Given the description of an element on the screen output the (x, y) to click on. 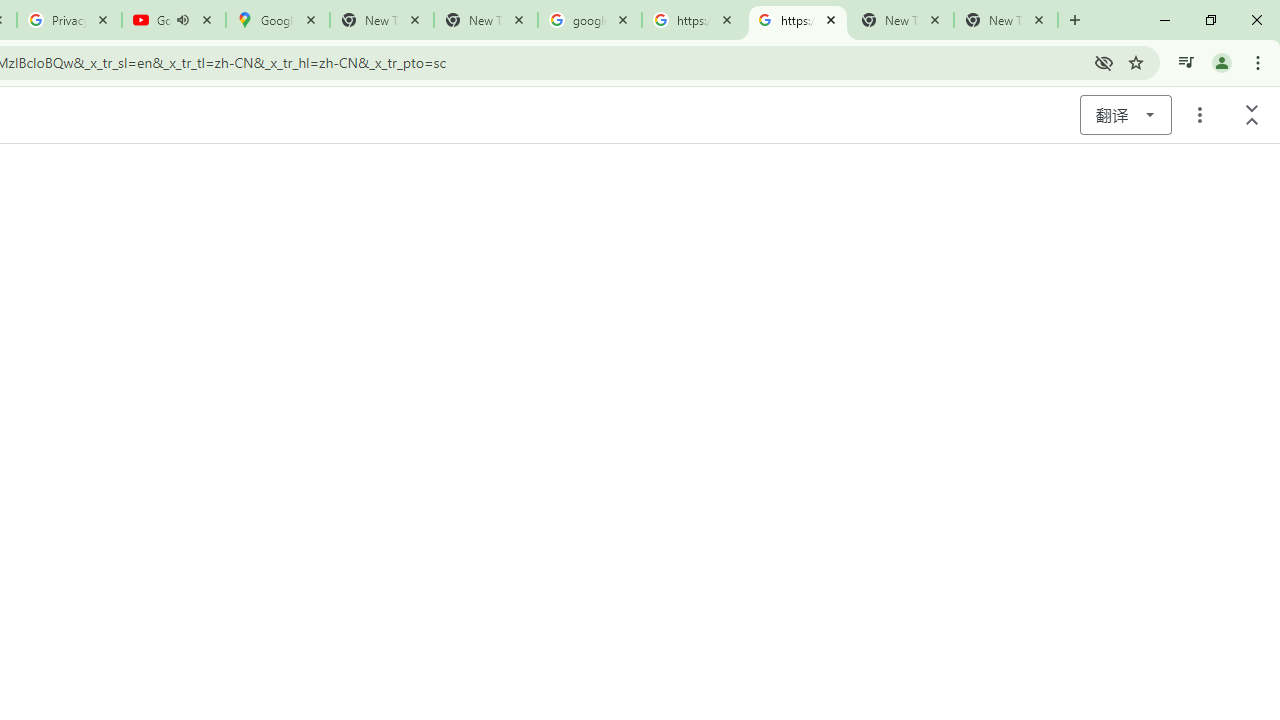
https://scholar.google.com/ (797, 20)
https://scholar.google.com/ (694, 20)
